Given the description of an element on the screen output the (x, y) to click on. 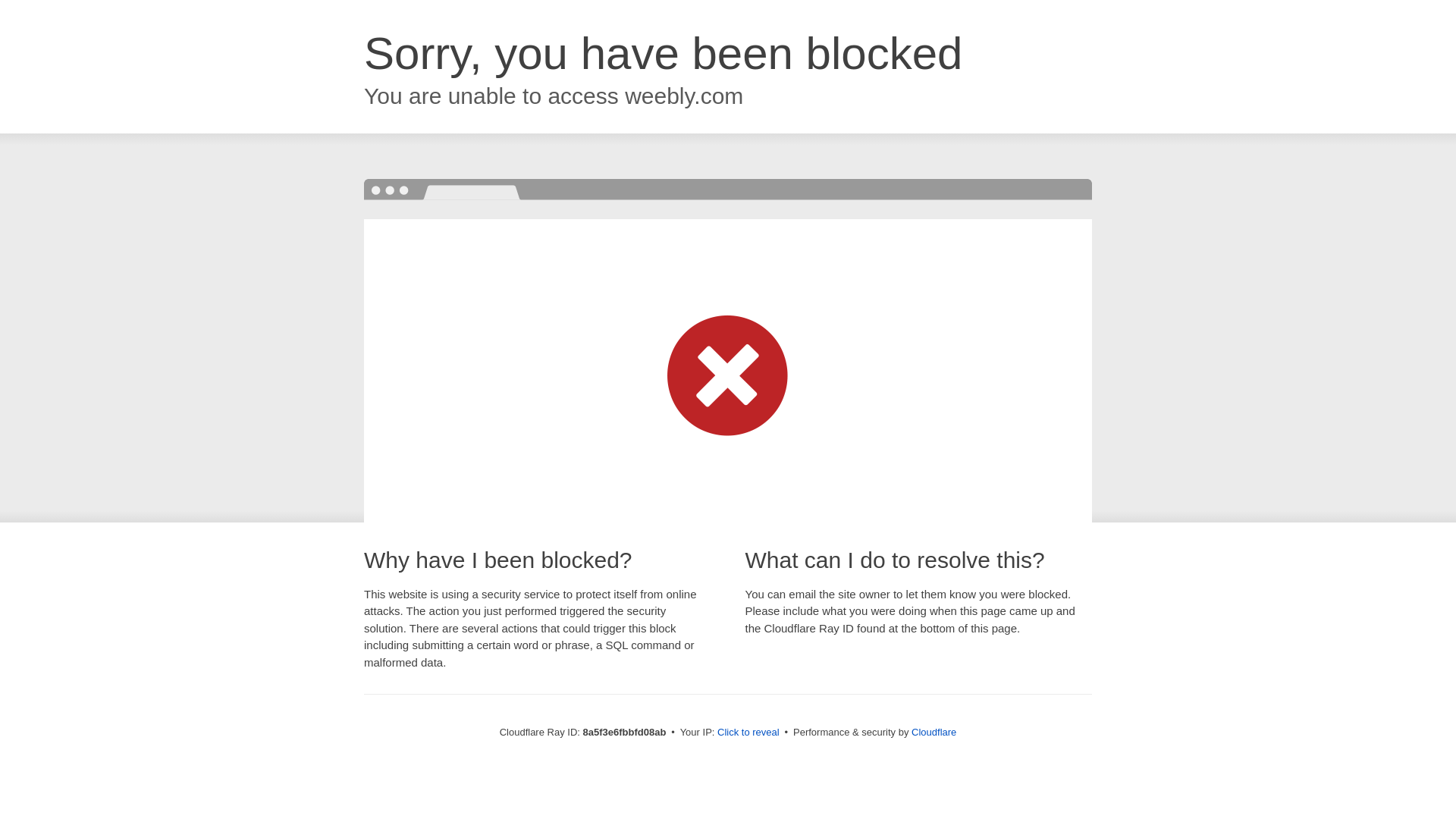
Cloudflare (933, 731)
Click to reveal (747, 732)
